Given the description of an element on the screen output the (x, y) to click on. 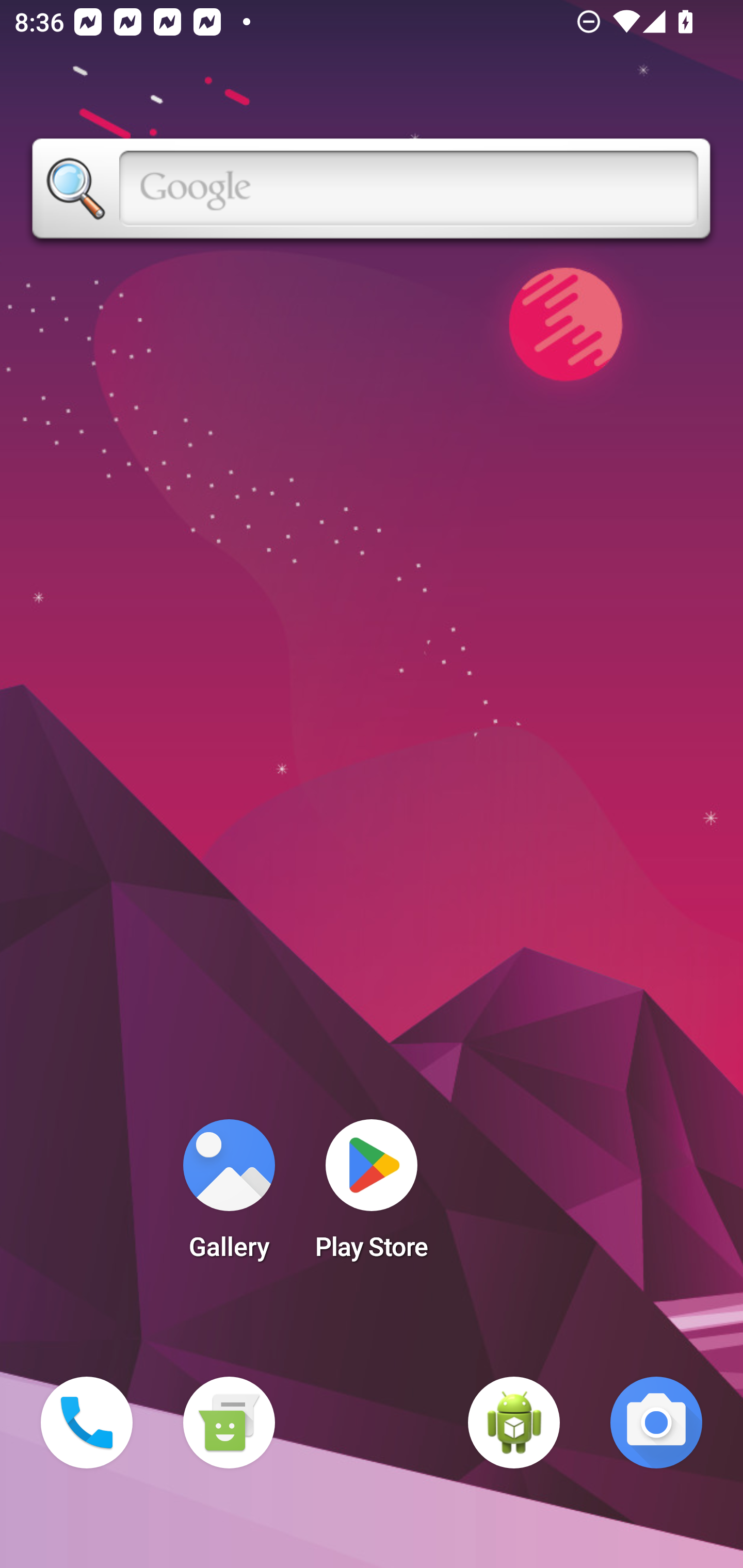
Gallery (228, 1195)
Play Store (371, 1195)
Phone (86, 1422)
Messaging (228, 1422)
WebView Browser Tester (513, 1422)
Camera (656, 1422)
